Given the description of an element on the screen output the (x, y) to click on. 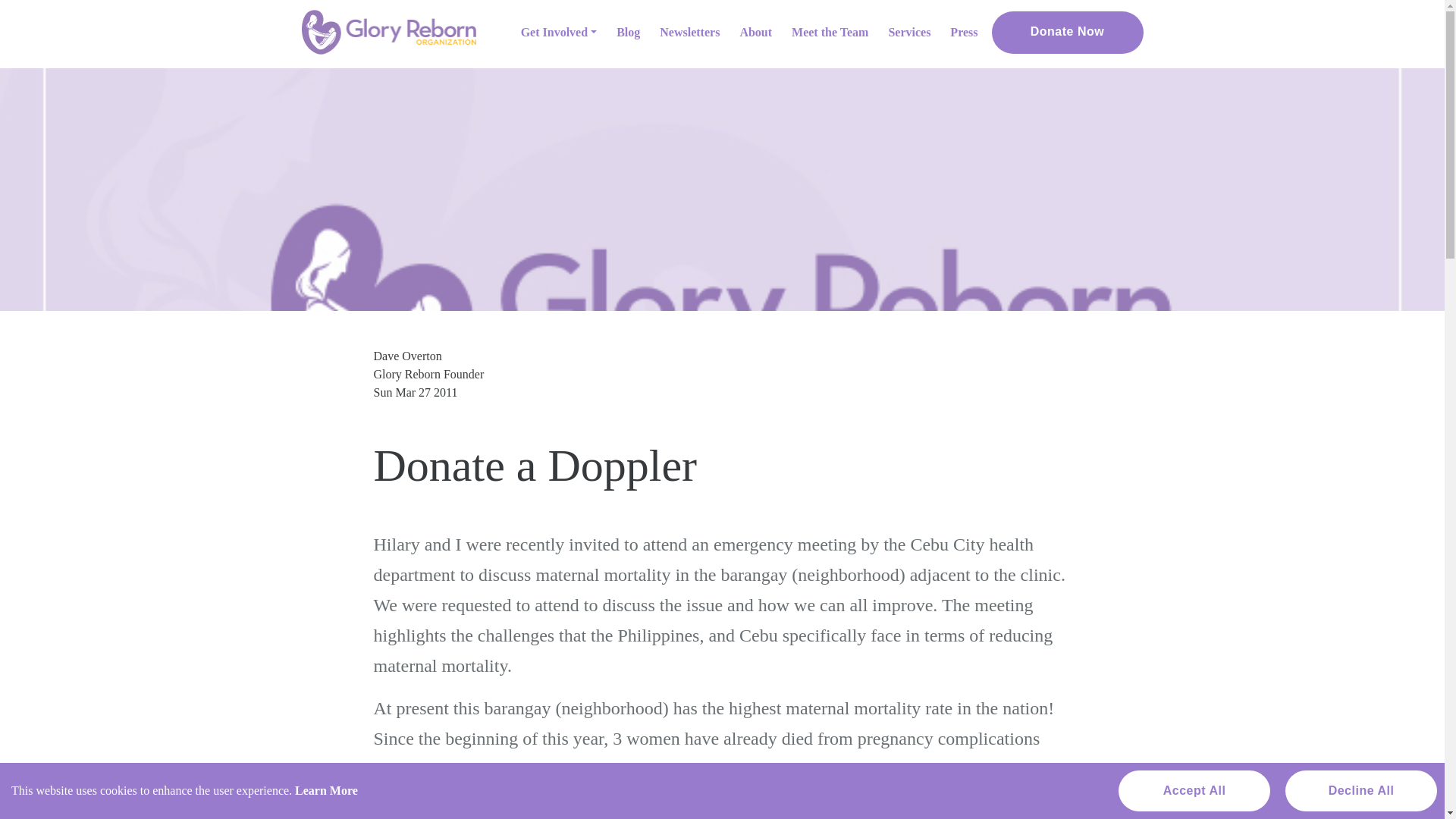
Accept All (1193, 790)
Decline All (1361, 790)
Blog (628, 32)
Newsletters (689, 32)
Donate Now (1066, 32)
Services (909, 32)
Press (963, 32)
Get Involved (559, 32)
About (755, 32)
Meet the Team (830, 32)
Learn More (326, 789)
